Given the description of an element on the screen output the (x, y) to click on. 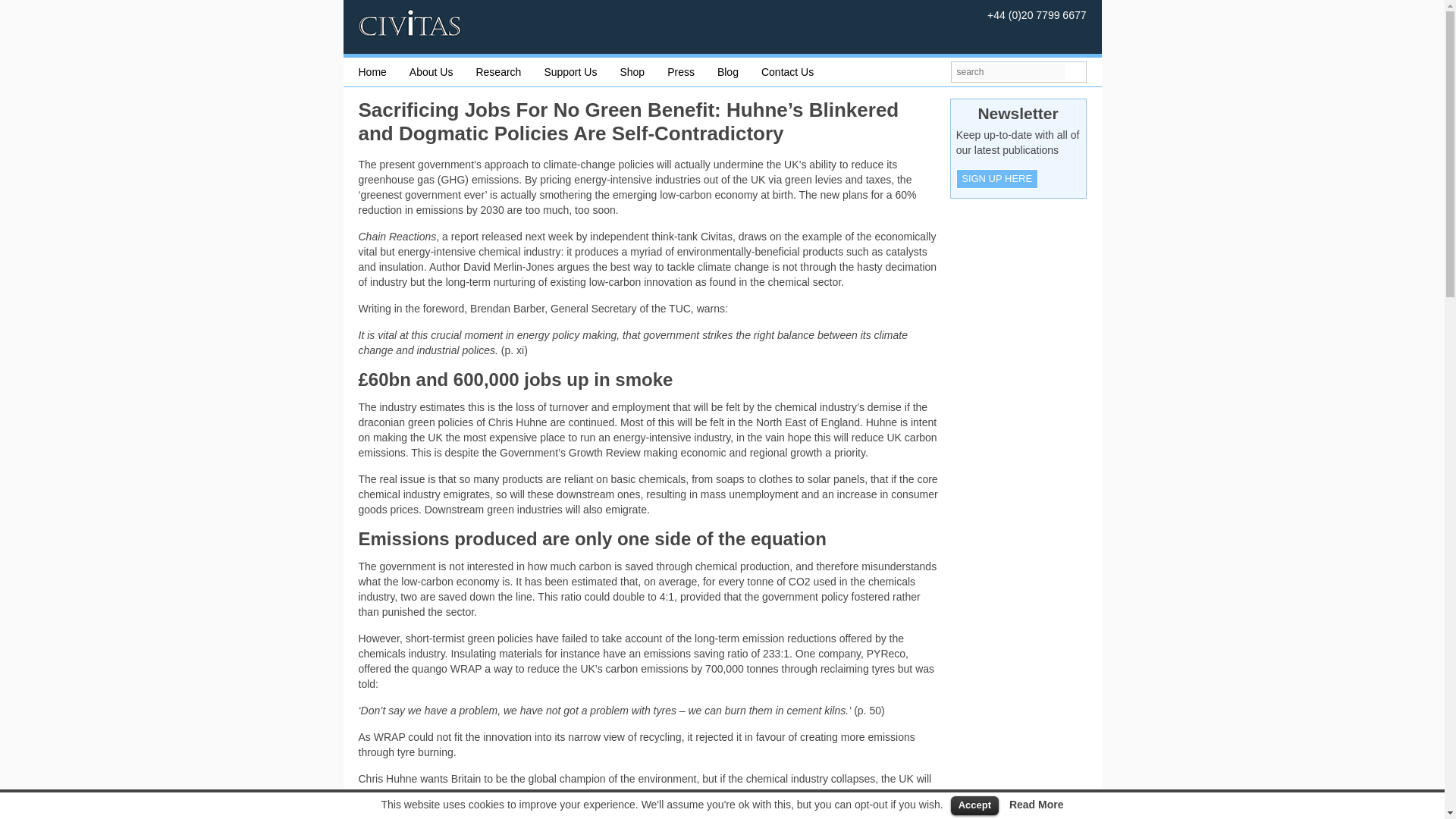
Support Us (581, 71)
Research (509, 71)
Press (691, 71)
SIGN UP HERE (997, 178)
About Us (442, 71)
Home (383, 71)
Contact Us (798, 71)
Blog (739, 71)
Shop (643, 71)
Accept (974, 805)
Read More (1036, 804)
